Given the description of an element on the screen output the (x, y) to click on. 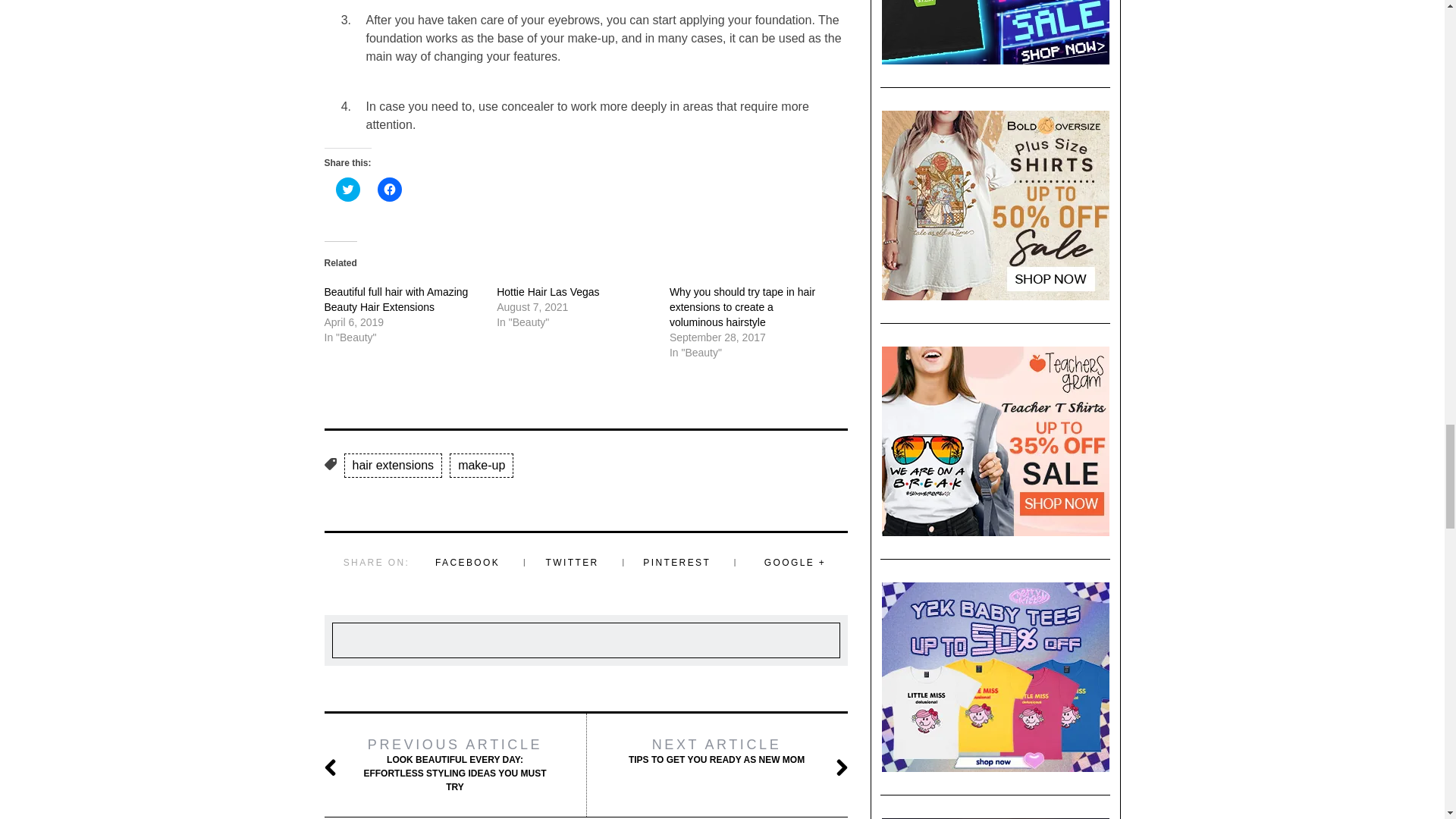
Hottie Hair Las Vegas (547, 291)
Click to share on Facebook (389, 189)
Click to share on Twitter (346, 189)
Beautiful full hair with Amazing Beauty Hair Extensions (396, 298)
